Given the description of an element on the screen output the (x, y) to click on. 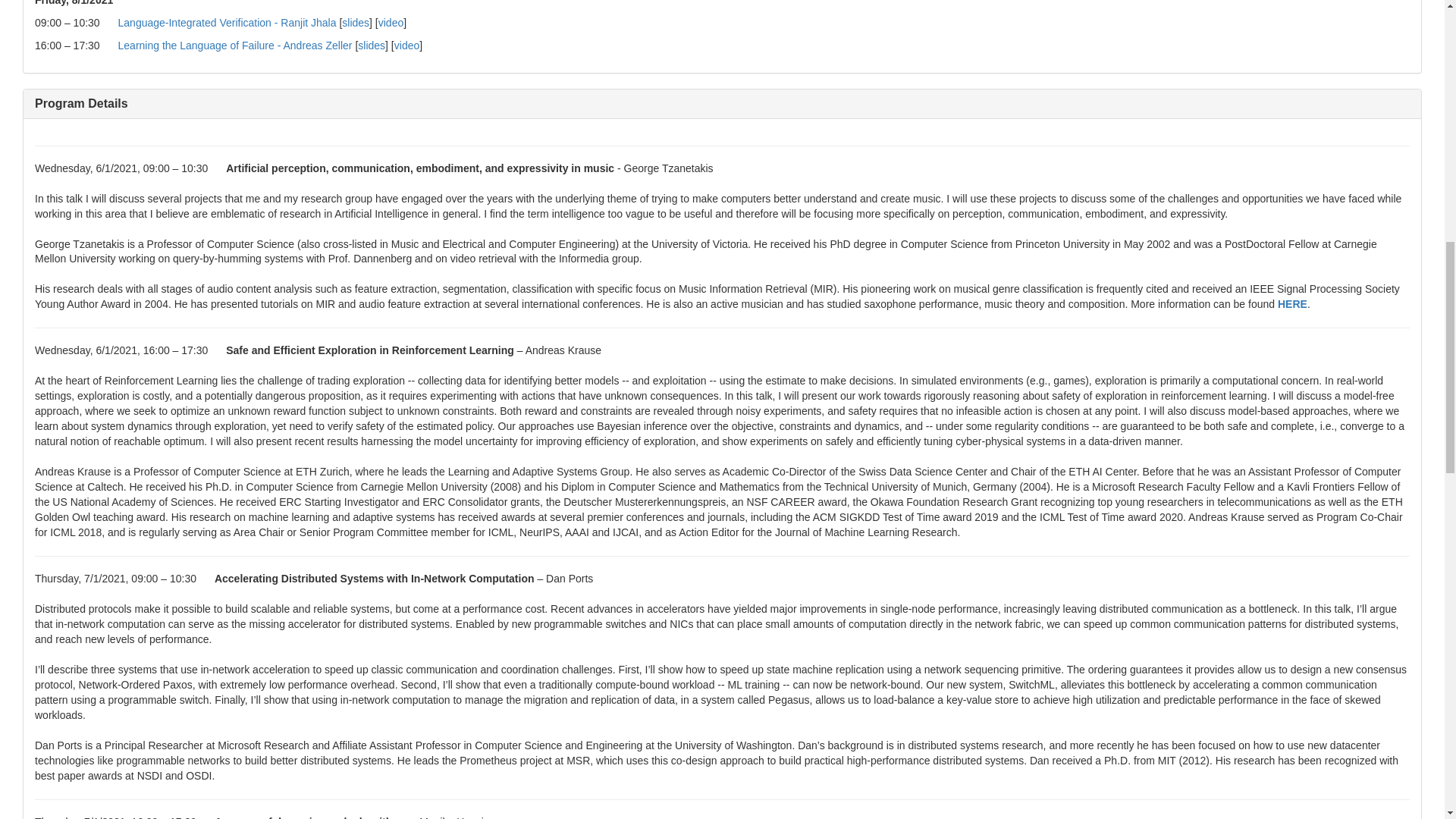
slides (371, 45)
HERE (1292, 304)
video (406, 45)
Learning the Language of Failure - Andreas Zeller (234, 45)
slides (355, 22)
video (390, 22)
Language-Integrated Verification - Ranjit Jhala (226, 22)
